Given the description of an element on the screen output the (x, y) to click on. 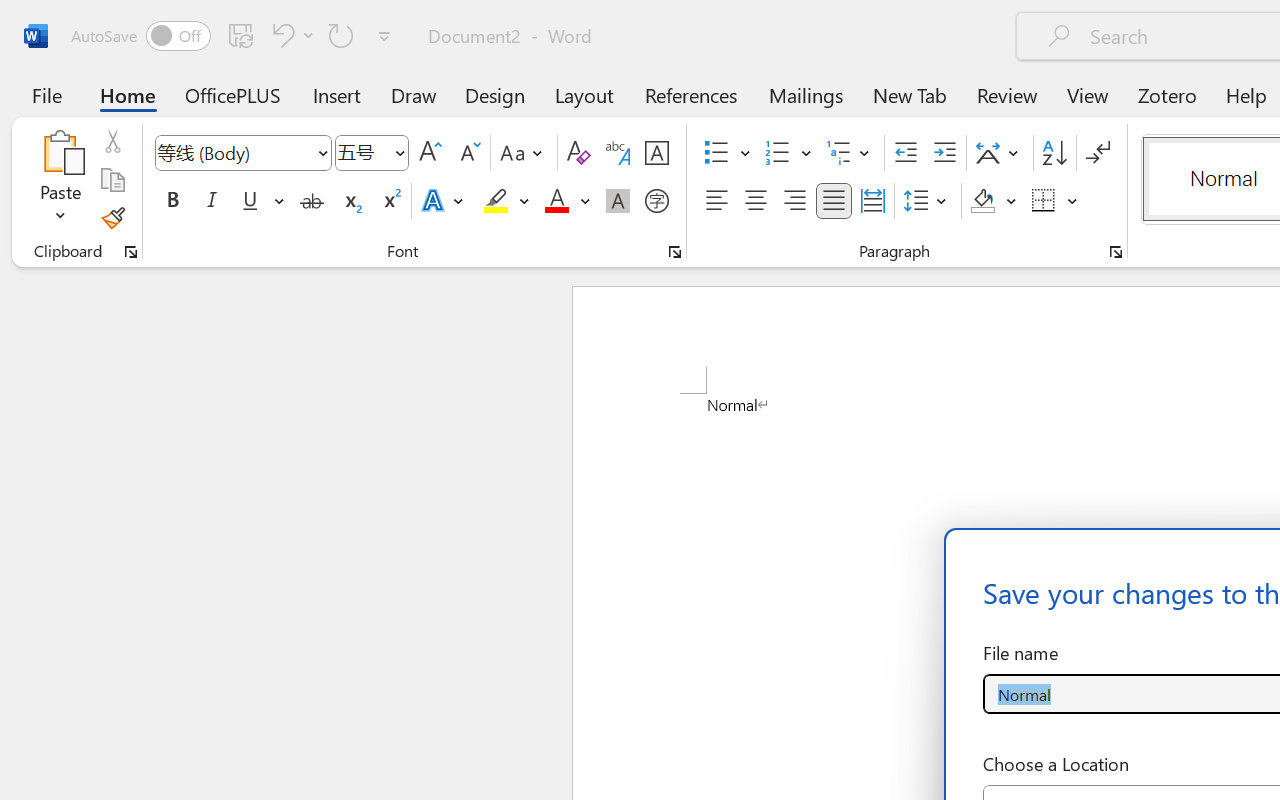
OfficePLUS (233, 94)
Change Case (524, 153)
Subscript (350, 201)
Text Highlight Color Yellow (495, 201)
Mailings (806, 94)
Format Painter (112, 218)
File Tab (46, 94)
Quick Access Toolbar (233, 36)
Decrease Indent (906, 153)
Cut (112, 141)
Grow Font (430, 153)
View (1087, 94)
Review (1007, 94)
